Given the description of an element on the screen output the (x, y) to click on. 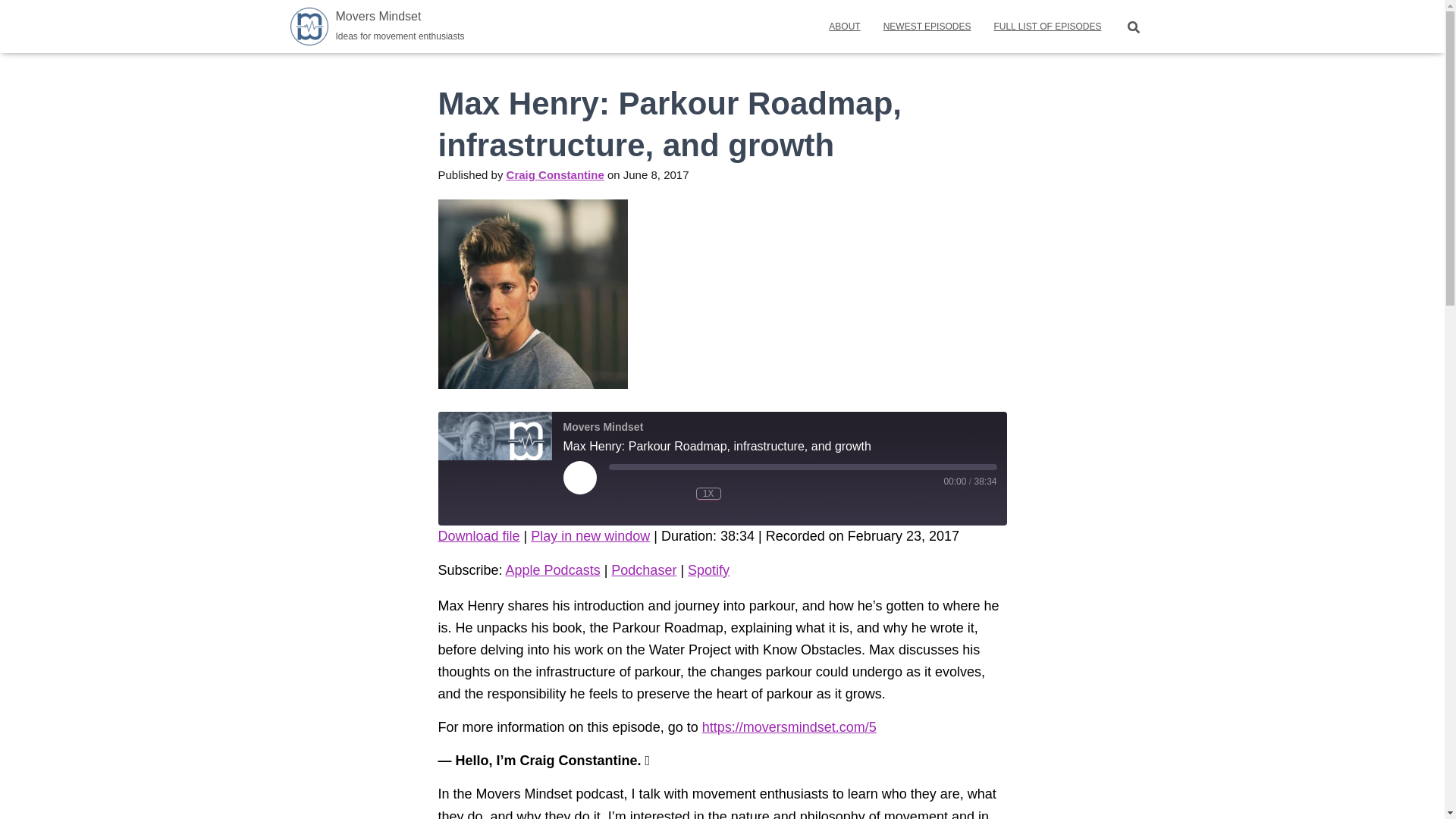
Apple Podcasts (377, 26)
Movers Mindset (552, 570)
Full List of Episodes (494, 468)
ABOUT (1046, 26)
Movers Mindset (843, 26)
FAST FORWARD 30 SECONDS (377, 26)
Newest Episodes (751, 493)
NEWEST EPISODES (927, 26)
Play in new window (927, 26)
